Given the description of an element on the screen output the (x, y) to click on. 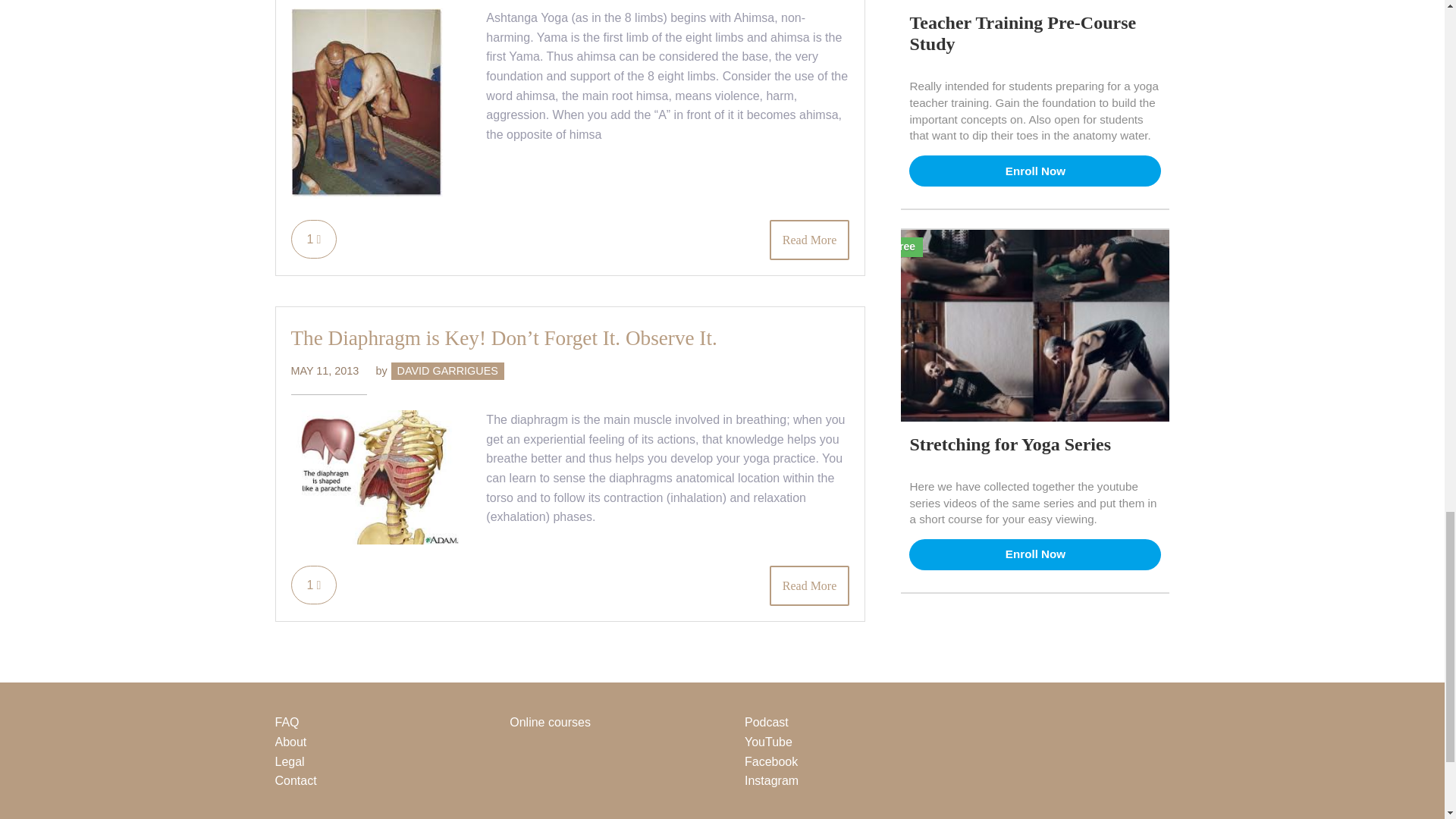
Go to Ashtanga Yoga and the Secret of Mula Bandha (367, 194)
View all posts by David Garrigues (447, 370)
